Given the description of an element on the screen output the (x, y) to click on. 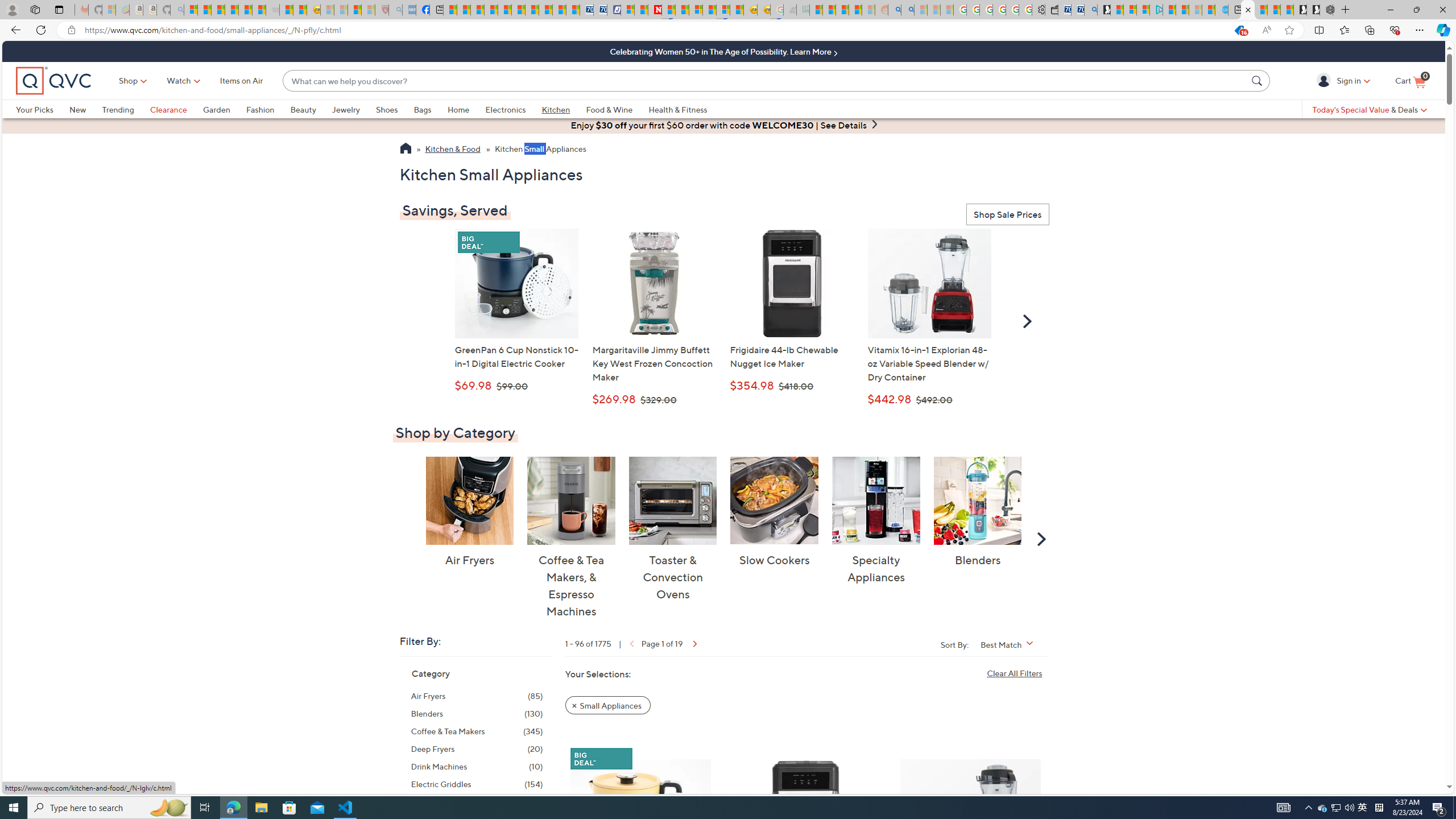
Previous Page (630, 643)
Cheap Hotels - Save70.com (599, 9)
Toaster & Convection Ovens (672, 500)
Next Page (693, 643)
Air Fryers (469, 500)
Celebrating Women 50+ in The Age of Possibility. Learn More (723, 51)
Clearance (175, 109)
Latest Politics News & Archive | Newsweek.com (654, 9)
Drink Machines, 10 items (476, 766)
Fashion (260, 109)
